Given the description of an element on the screen output the (x, y) to click on. 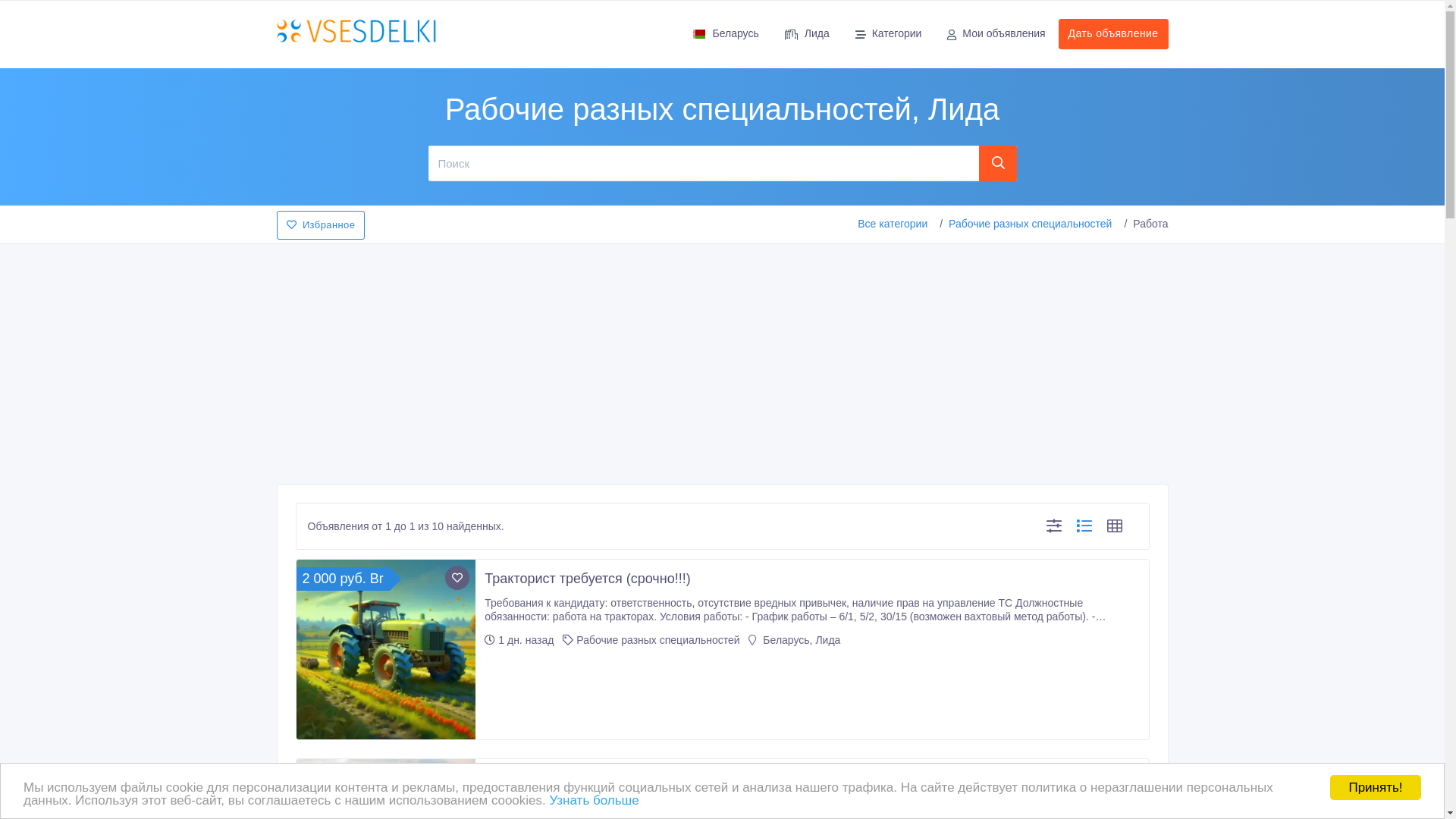
Add to favorite Element type: hover (457, 577)
Advertisement Element type: hover (721, 359)
Add to favorite Element type: hover (457, 777)
